Given the description of an element on the screen output the (x, y) to click on. 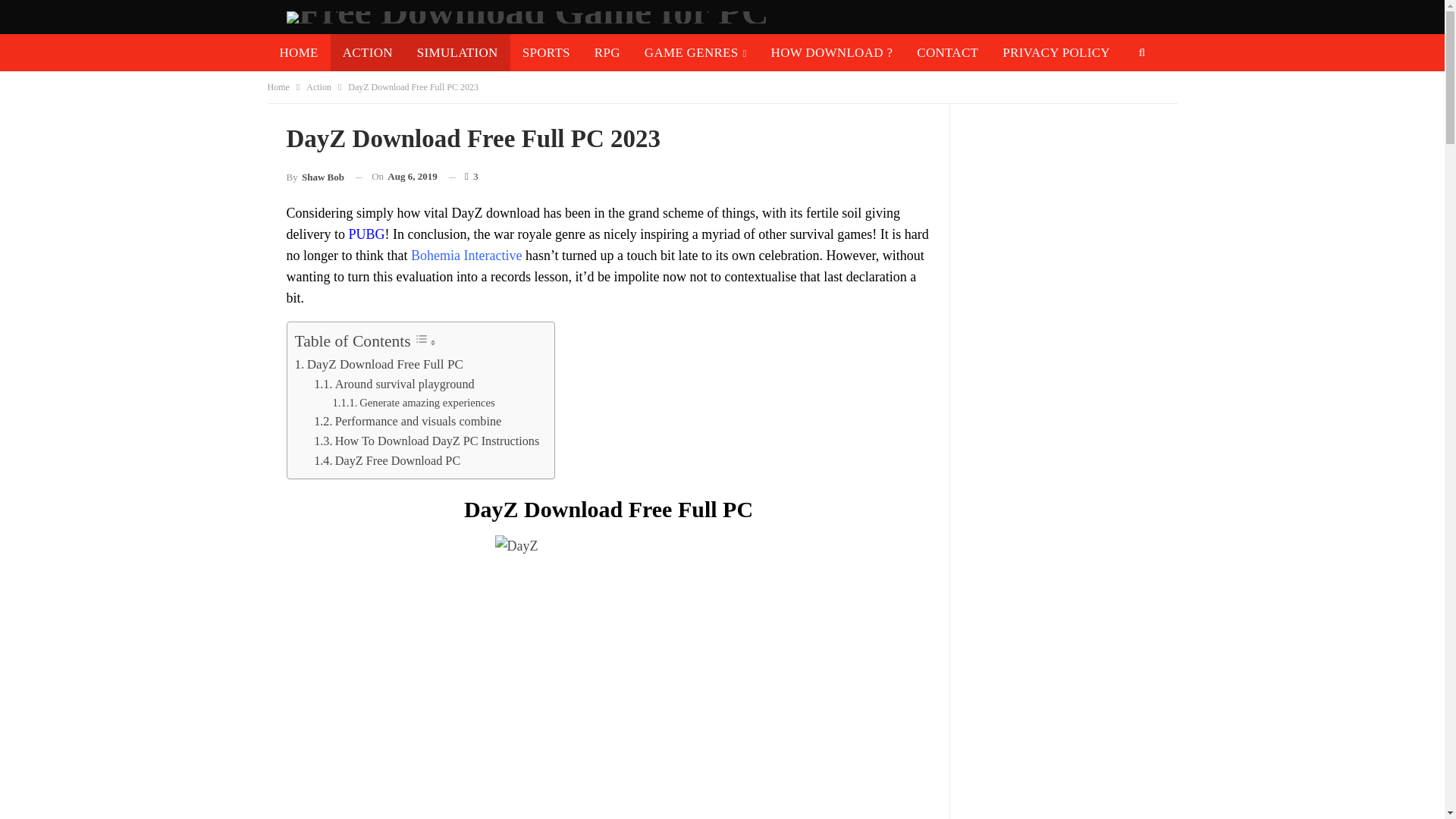
Around survival playground (394, 383)
GAME GENRES (694, 52)
Generate amazing experiences (413, 402)
DayZ Download Free Full PC (378, 362)
How To Download DayZ PC Instructions (426, 441)
Browse Author Articles (314, 177)
Home (277, 86)
SPORTS (546, 52)
Bohemia Interactive (465, 255)
HOW DOWNLOAD ? (831, 52)
DayZ Download Free Full PC (378, 362)
CONTACT (947, 52)
How To Download DayZ PC Instructions (426, 441)
HOME (298, 52)
By Shaw Bob (314, 177)
